Given the description of an element on the screen output the (x, y) to click on. 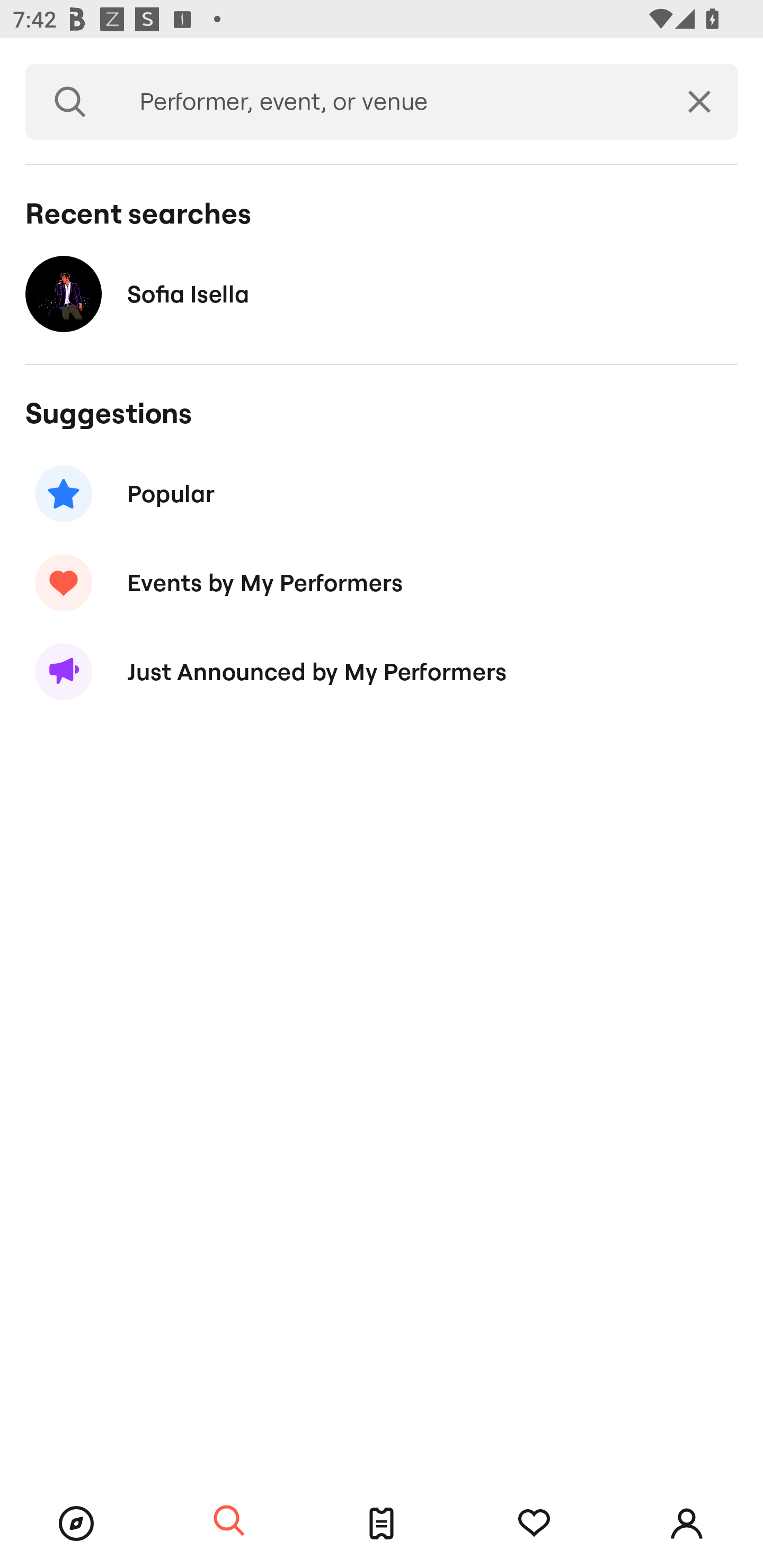
Search (69, 101)
Performer, event, or venue (387, 101)
Clear (699, 101)
Sofia Isella (381, 293)
Popular (381, 492)
Events by My Performers (381, 582)
Just Announced by My Performers (381, 671)
Browse (76, 1523)
Search (228, 1521)
Tickets (381, 1523)
Tracking (533, 1523)
Account (686, 1523)
